Given the description of an element on the screen output the (x, y) to click on. 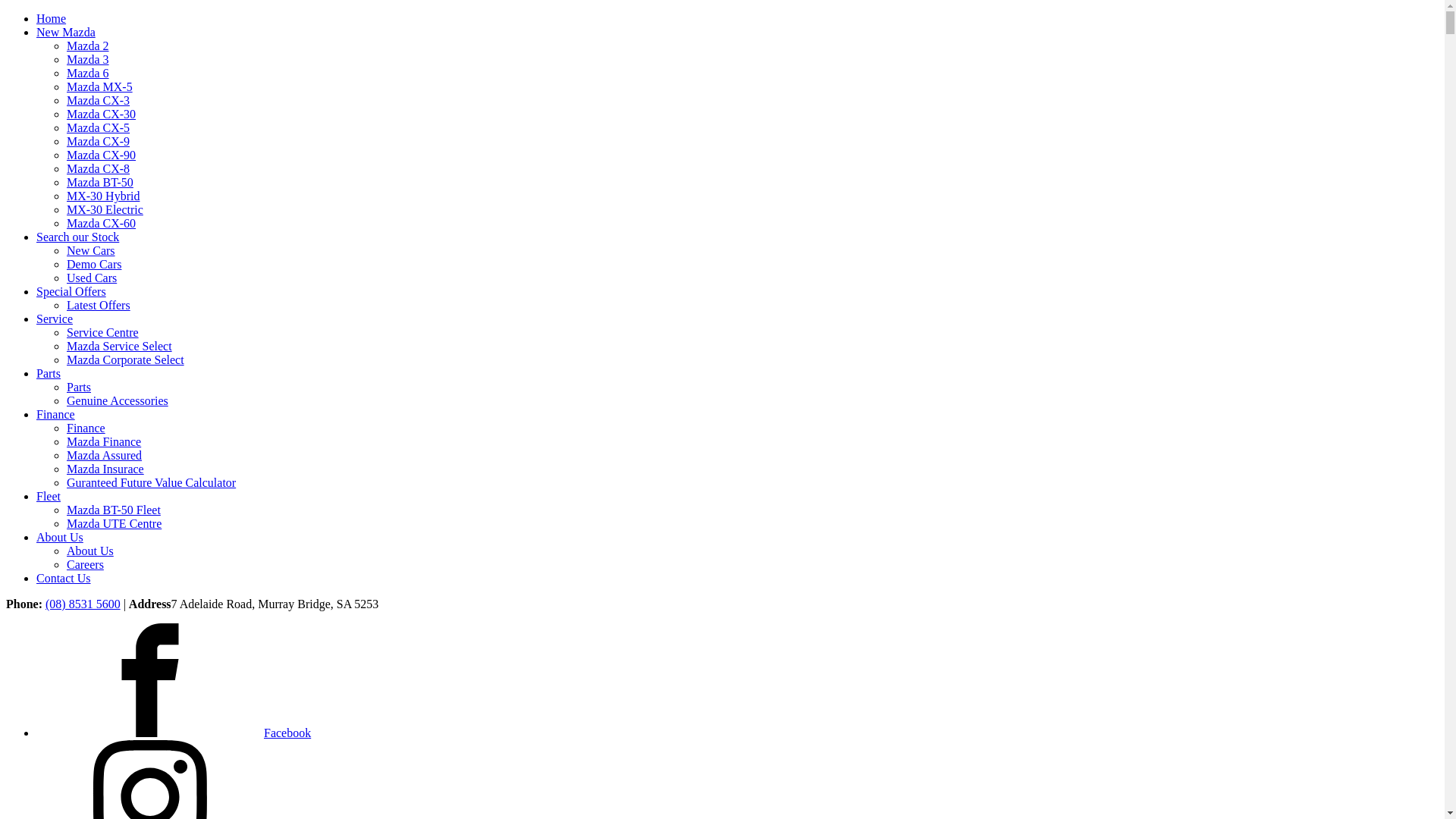
Mazda Service Select Element type: text (119, 345)
Mazda CX-60 Element type: text (100, 222)
Search our Stock Element type: text (77, 236)
Mazda BT-50 Element type: text (99, 181)
Careers Element type: text (84, 564)
Mazda Finance Element type: text (103, 441)
Mazda 2 Element type: text (87, 45)
Mazda CX-5 Element type: text (97, 127)
Service Centre Element type: text (102, 332)
Fleet Element type: text (48, 495)
Facebook Element type: text (173, 732)
Service Element type: text (54, 318)
Parts Element type: text (78, 386)
Mazda Assured Element type: text (103, 454)
Demo Cars Element type: text (93, 263)
MX-30 Hybrid Element type: text (102, 195)
Finance Element type: text (85, 427)
Mazda CX-3 Element type: text (97, 100)
New Mazda Element type: text (65, 31)
Mazda UTE Centre Element type: text (113, 523)
Mazda Corporate Select Element type: text (125, 359)
About Us Element type: text (89, 550)
MX-30 Electric Element type: text (104, 209)
Mazda CX-90 Element type: text (100, 154)
Special Offers Element type: text (71, 291)
New Cars Element type: text (90, 250)
Guranteed Future Value Calculator Element type: text (150, 482)
Mazda CX-9 Element type: text (97, 140)
Contact Us Element type: text (63, 577)
Mazda Insurace Element type: text (105, 468)
Mazda 3 Element type: text (87, 59)
Mazda CX-30 Element type: text (100, 113)
(08) 8531 5600 Element type: text (82, 603)
Genuine Accessories Element type: text (117, 400)
Mazda 6 Element type: text (87, 72)
Home Element type: text (50, 18)
Mazda BT-50 Fleet Element type: text (113, 509)
Used Cars Element type: text (91, 277)
About Us Element type: text (59, 536)
Finance Element type: text (55, 413)
Mazda MX-5 Element type: text (99, 86)
Parts Element type: text (48, 373)
Mazda CX-8 Element type: text (97, 168)
Latest Offers Element type: text (98, 304)
